Given the description of an element on the screen output the (x, y) to click on. 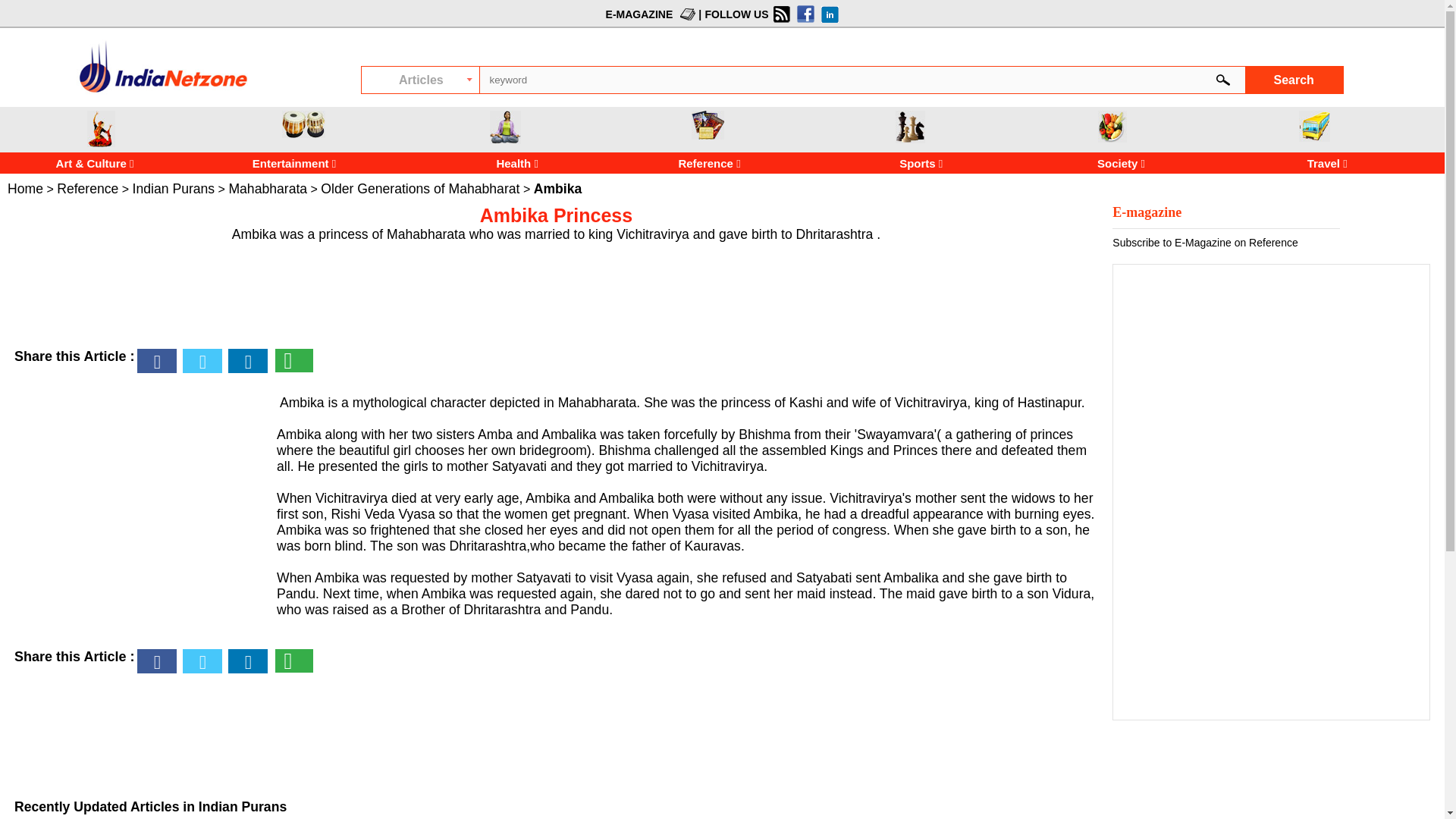
Entertainment (303, 124)
Health (475, 163)
Older Generations of Mahabharat (419, 188)
Society (1111, 126)
Reference (677, 163)
Indian Purans (173, 188)
Travel (1314, 125)
Largest  Encyclopedia on India with Lakhs of Articles (162, 66)
IndiaNetzone.com (162, 91)
Search (1293, 79)
Mahabharata (267, 188)
Follow on Facebook (803, 13)
Reference (86, 188)
Reference (711, 163)
Home (25, 188)
